Given the description of an element on the screen output the (x, y) to click on. 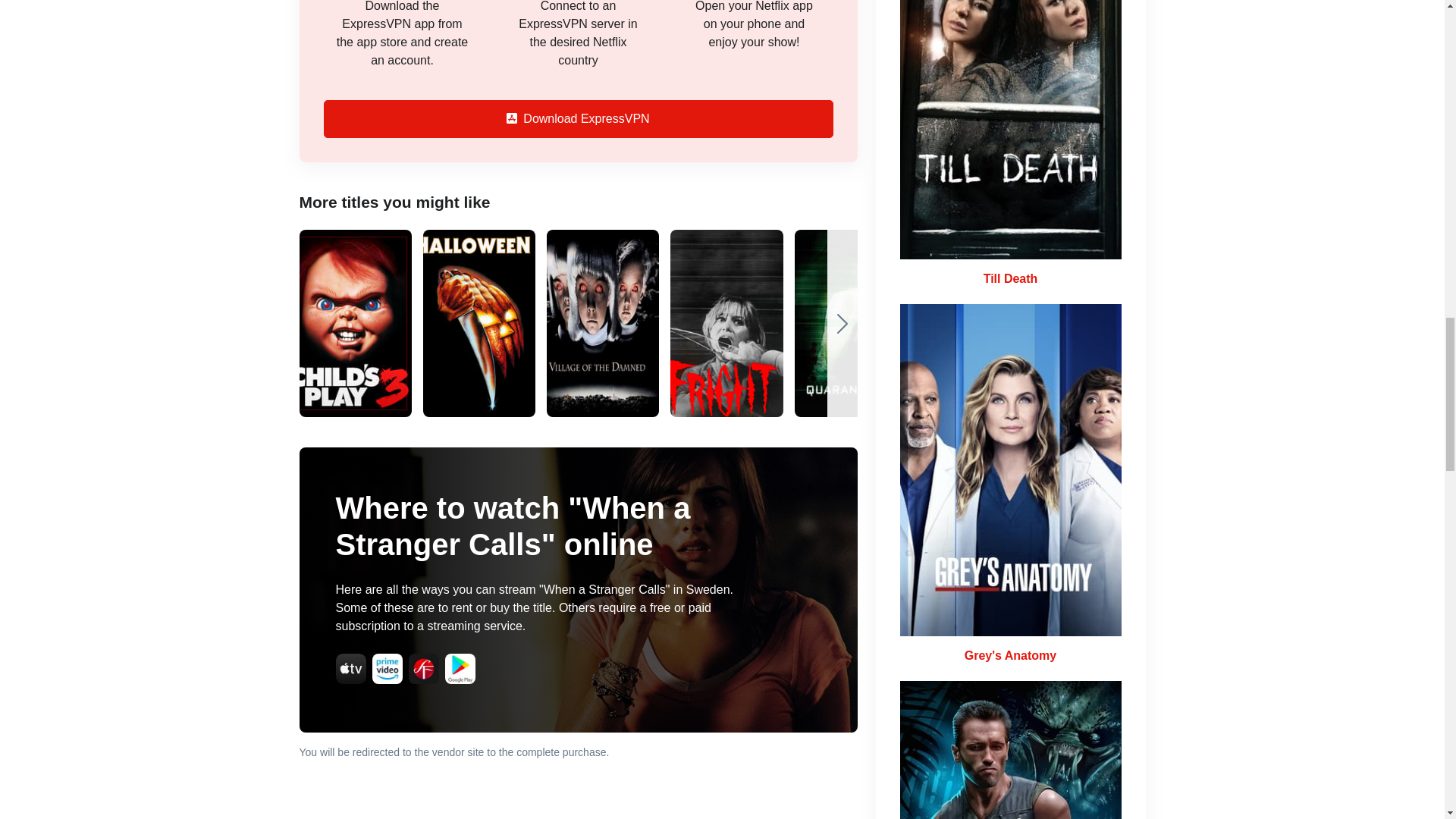
SF Anytime (422, 668)
Google Play Movies (459, 668)
Apple iTunes (349, 668)
Amazon Prime Video (386, 668)
